Given the description of an element on the screen output the (x, y) to click on. 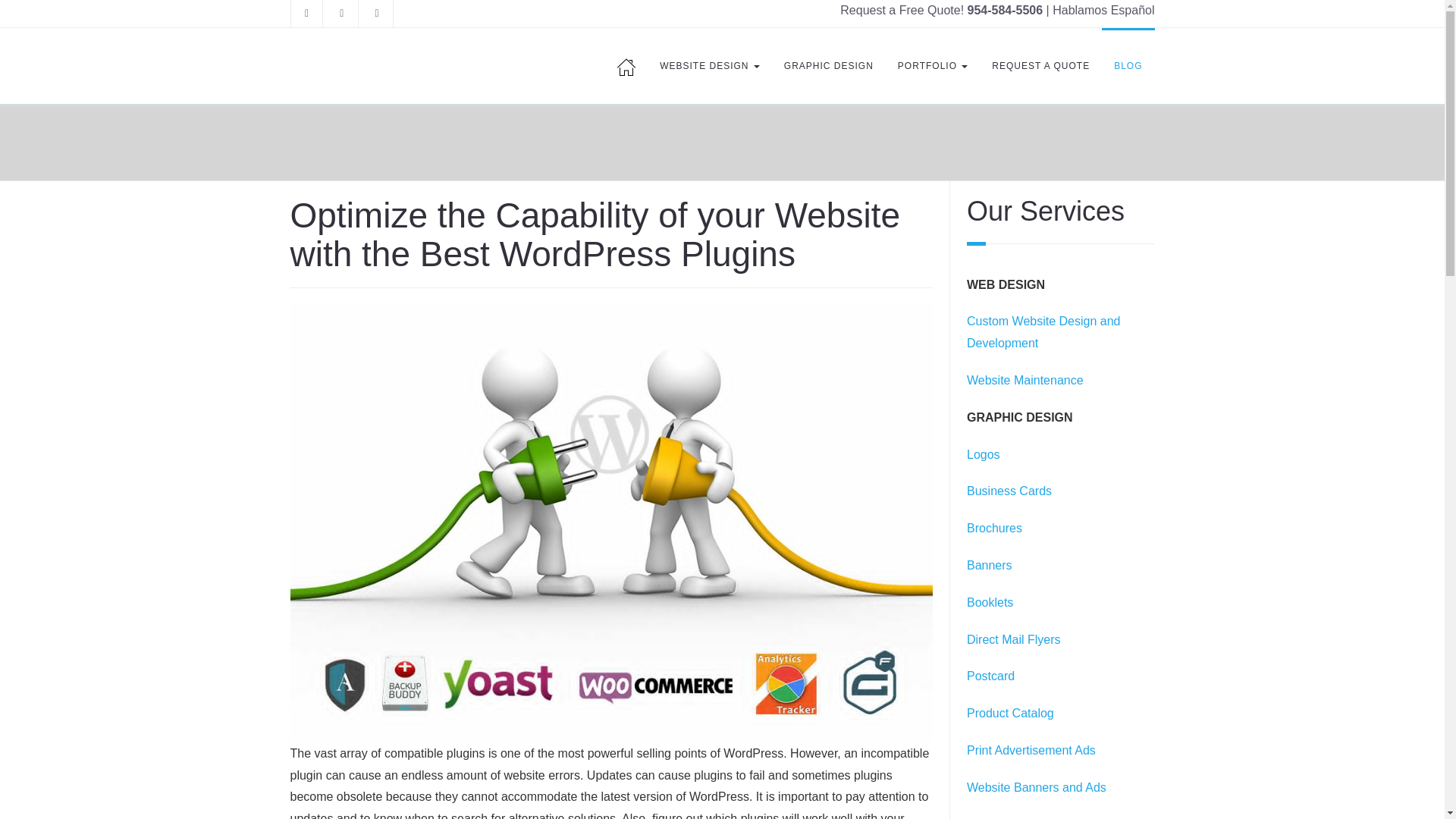
Learn About Our Graphic Design Services (990, 675)
Direct Mail Flyers (1013, 639)
Booklets (989, 602)
Logos (983, 454)
Learn About Custom Website Design Service (1042, 331)
Postcard (990, 675)
Learn About Our Graphic Design Services (1036, 787)
Learn About Our Brochure Design Services (994, 527)
Learn About Our Graphic Design Services (1013, 639)
WEBSITE DESIGN (709, 65)
Like Our Facebook Page (307, 13)
Business Cards (1008, 490)
Website Maintenance (1024, 379)
Learn About Our Graphic Design Services (1031, 749)
Banners (988, 564)
